Given the description of an element on the screen output the (x, y) to click on. 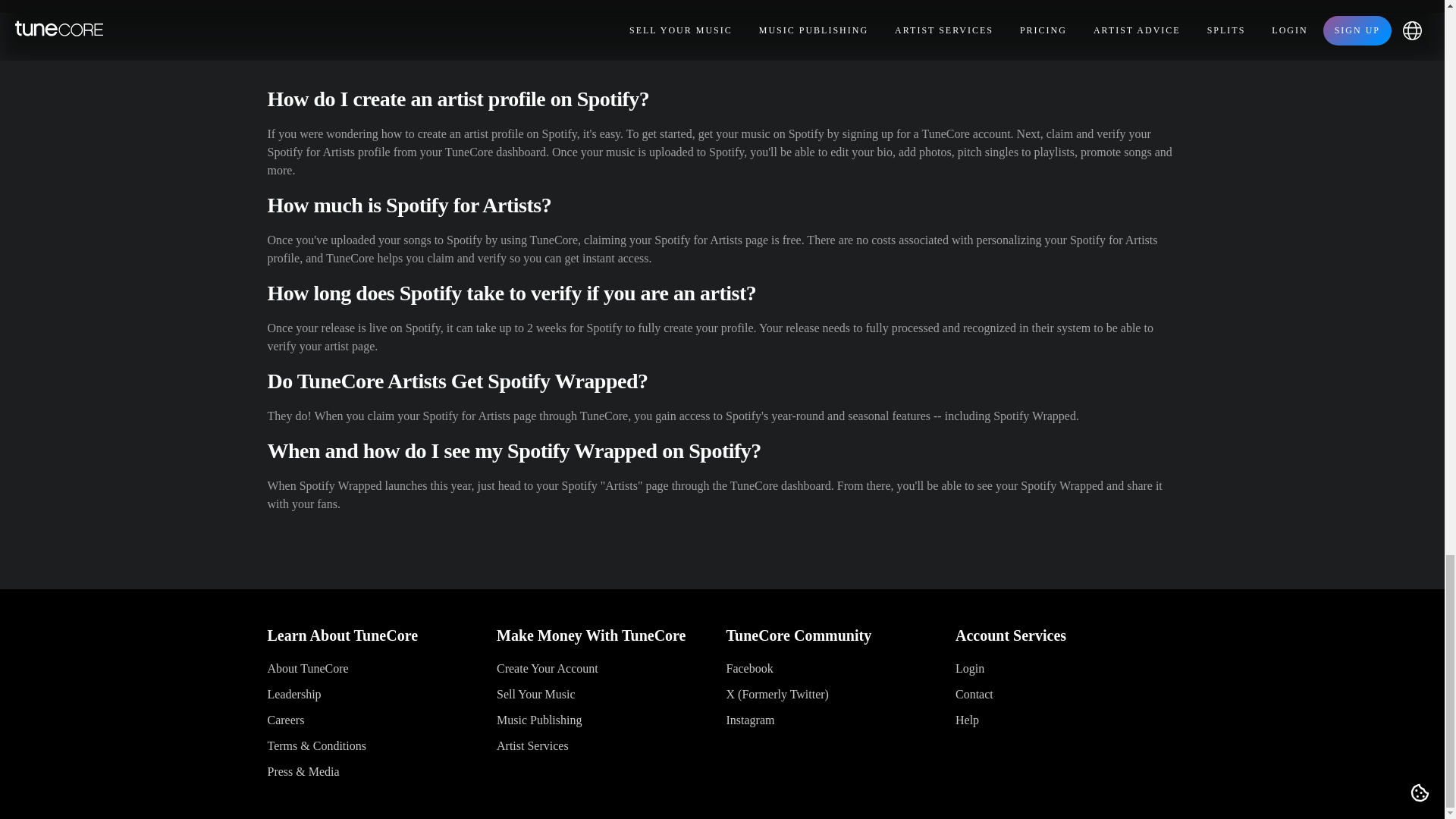
About TuneCore (306, 667)
Sell Your Music (535, 694)
Help (966, 719)
Contact (973, 694)
Login (969, 667)
Create Your Account (547, 667)
Music Publishing (538, 719)
Facebook (749, 667)
Instagram (750, 719)
Leadership (293, 694)
Careers (285, 719)
Artist Services (532, 745)
